Given the description of an element on the screen output the (x, y) to click on. 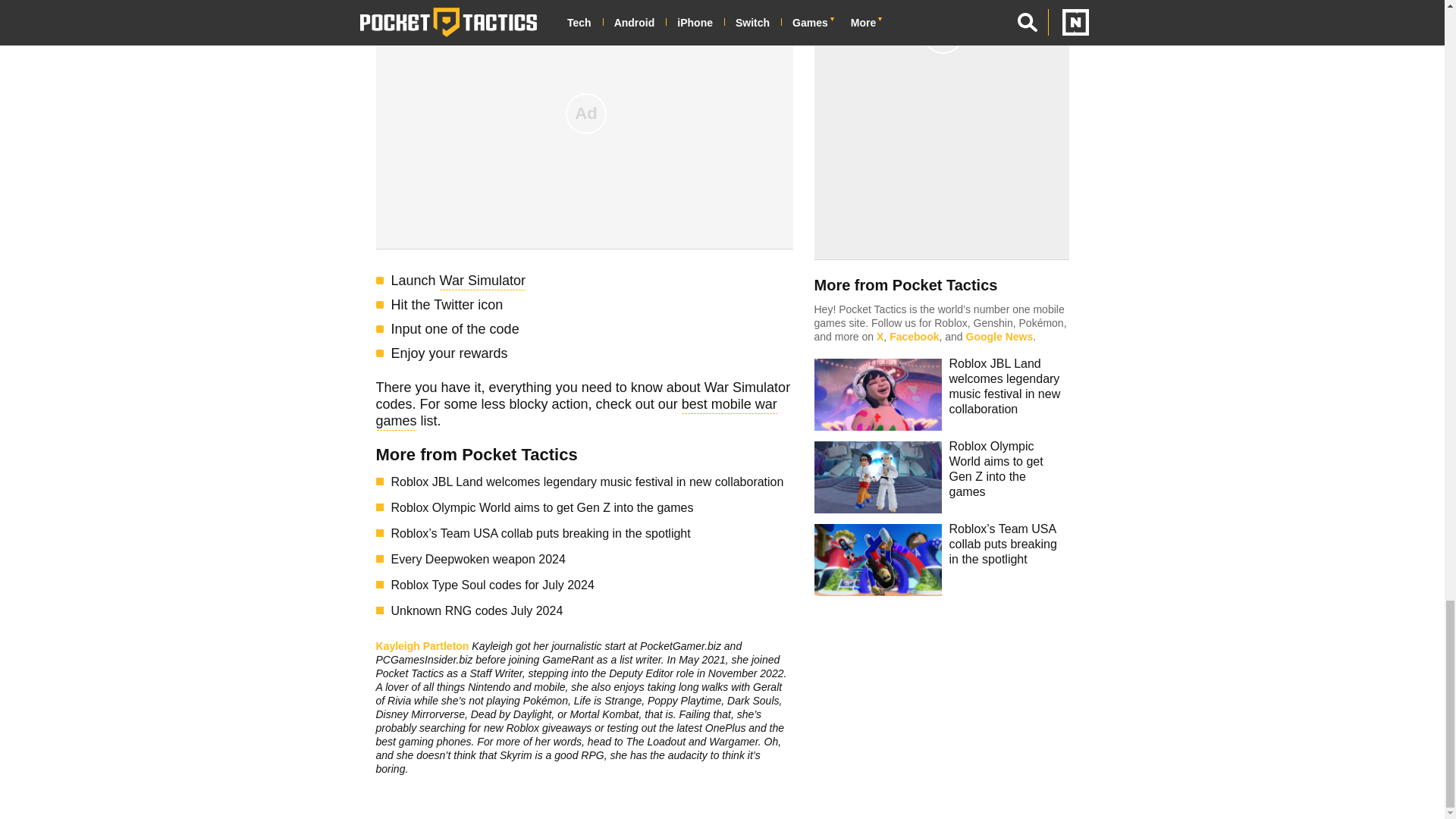
Every Deepwoken weapon 2024 (592, 559)
Roblox Type Soul codes for July 2024 (592, 585)
War Simulator (482, 281)
Roblox Olympic World aims to get Gen Z into the games (592, 507)
Unknown RNG codes July 2024 (592, 610)
